Given the description of an element on the screen output the (x, y) to click on. 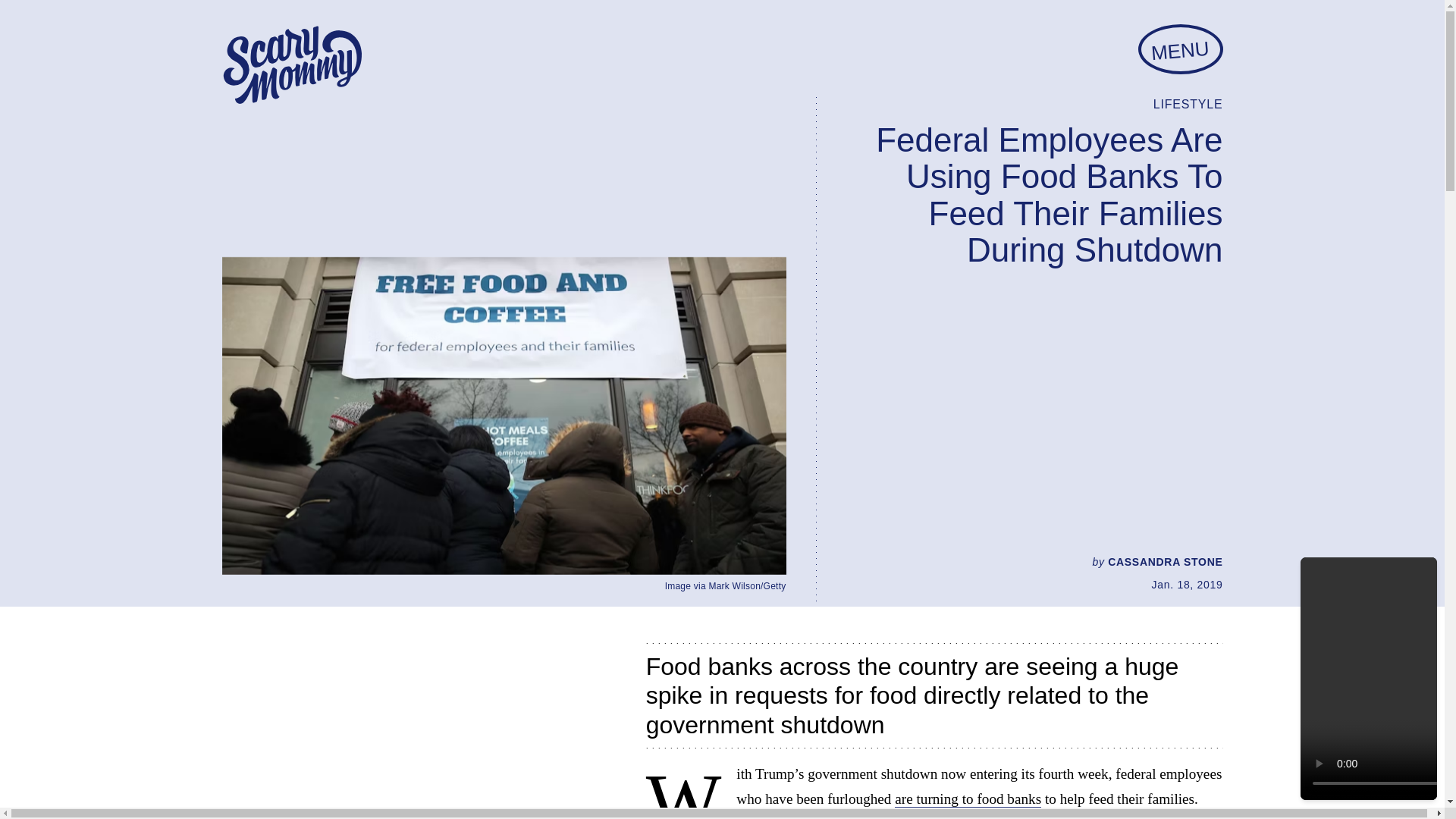
Scary Mommy (291, 64)
are turning to food banks (968, 799)
